Given the description of an element on the screen output the (x, y) to click on. 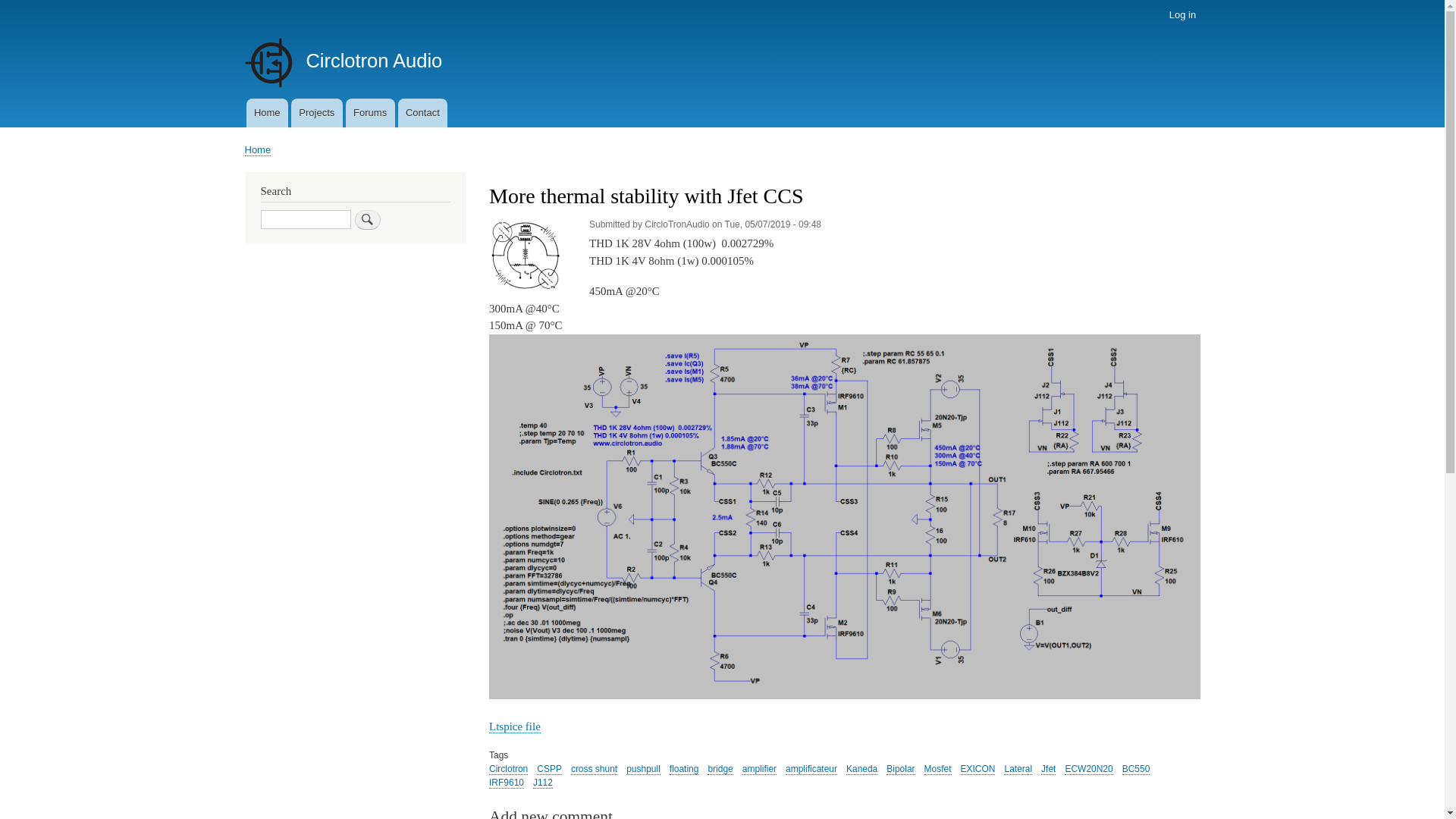
J112 Element type: text (542, 782)
Ltspice file Element type: text (514, 726)
Home Element type: text (266, 112)
BC550 Element type: text (1136, 769)
Lateral Element type: text (1018, 769)
cross shunt Element type: text (594, 769)
Log in Element type: text (1182, 15)
CSPP Element type: text (548, 769)
Circlotron Element type: text (508, 769)
Contact Element type: text (423, 112)
Forums Element type: text (370, 112)
Jfet Element type: text (1048, 769)
Projects Element type: text (316, 112)
Bipolar Element type: text (900, 769)
Kaneda Element type: text (861, 769)
pushpull Element type: text (643, 769)
floating Element type: text (684, 769)
Search Element type: text (367, 219)
Enter the terms you wish to search for. Element type: hover (305, 219)
amplificateur Element type: text (811, 769)
EXICON Element type: text (977, 769)
Circlotron Audio Element type: text (373, 60)
ECW20N20 Element type: text (1088, 769)
Home Element type: text (257, 150)
IRF9610 Element type: text (506, 782)
amplifier Element type: text (759, 769)
Skip to main content Element type: text (722, 1)
bridge Element type: text (719, 769)
Mosfet Element type: text (937, 769)
